Given the description of an element on the screen output the (x, y) to click on. 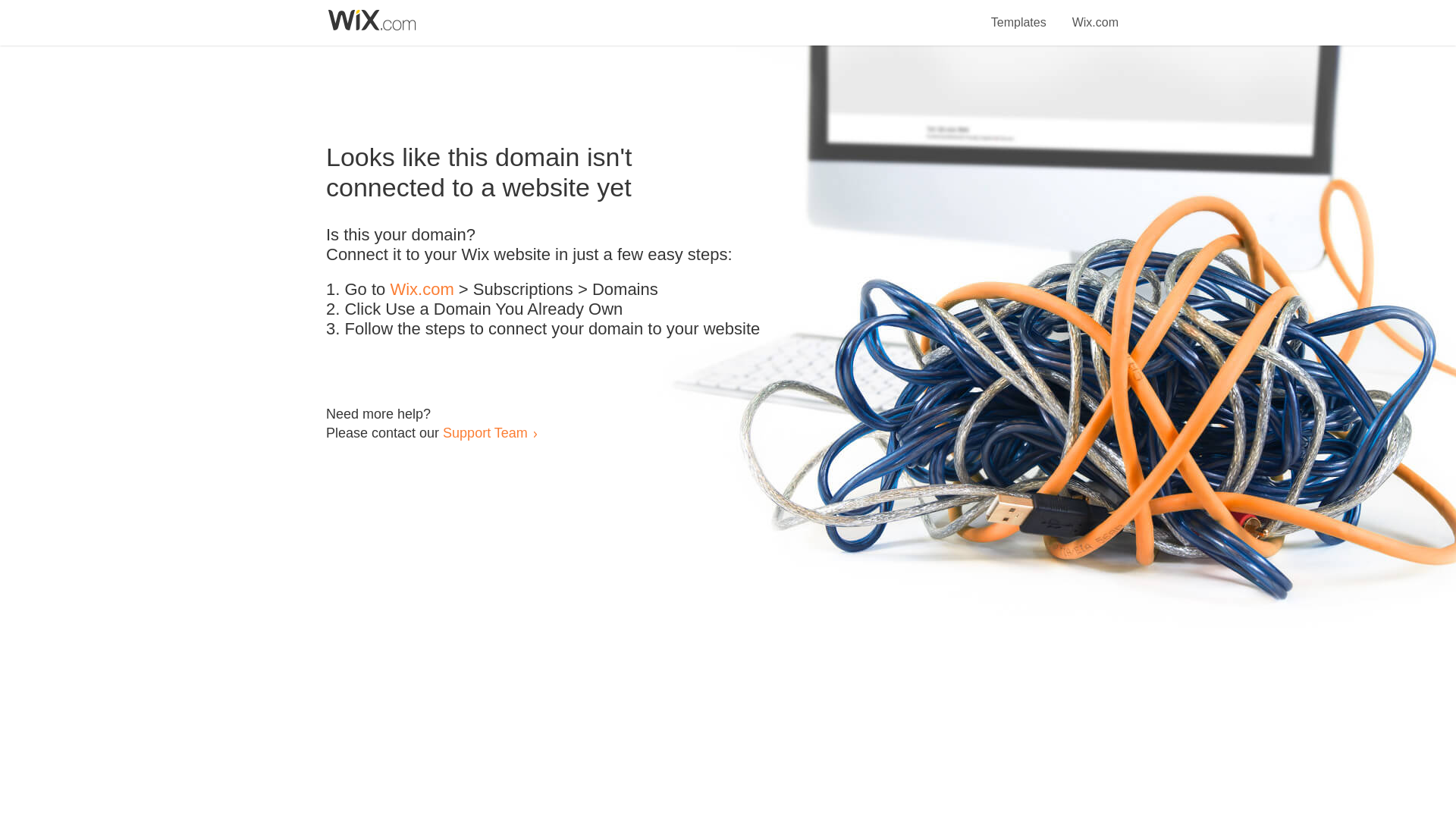
Templates (1018, 14)
Wix.com (421, 289)
Wix.com (1095, 14)
Support Team (484, 432)
